Given the description of an element on the screen output the (x, y) to click on. 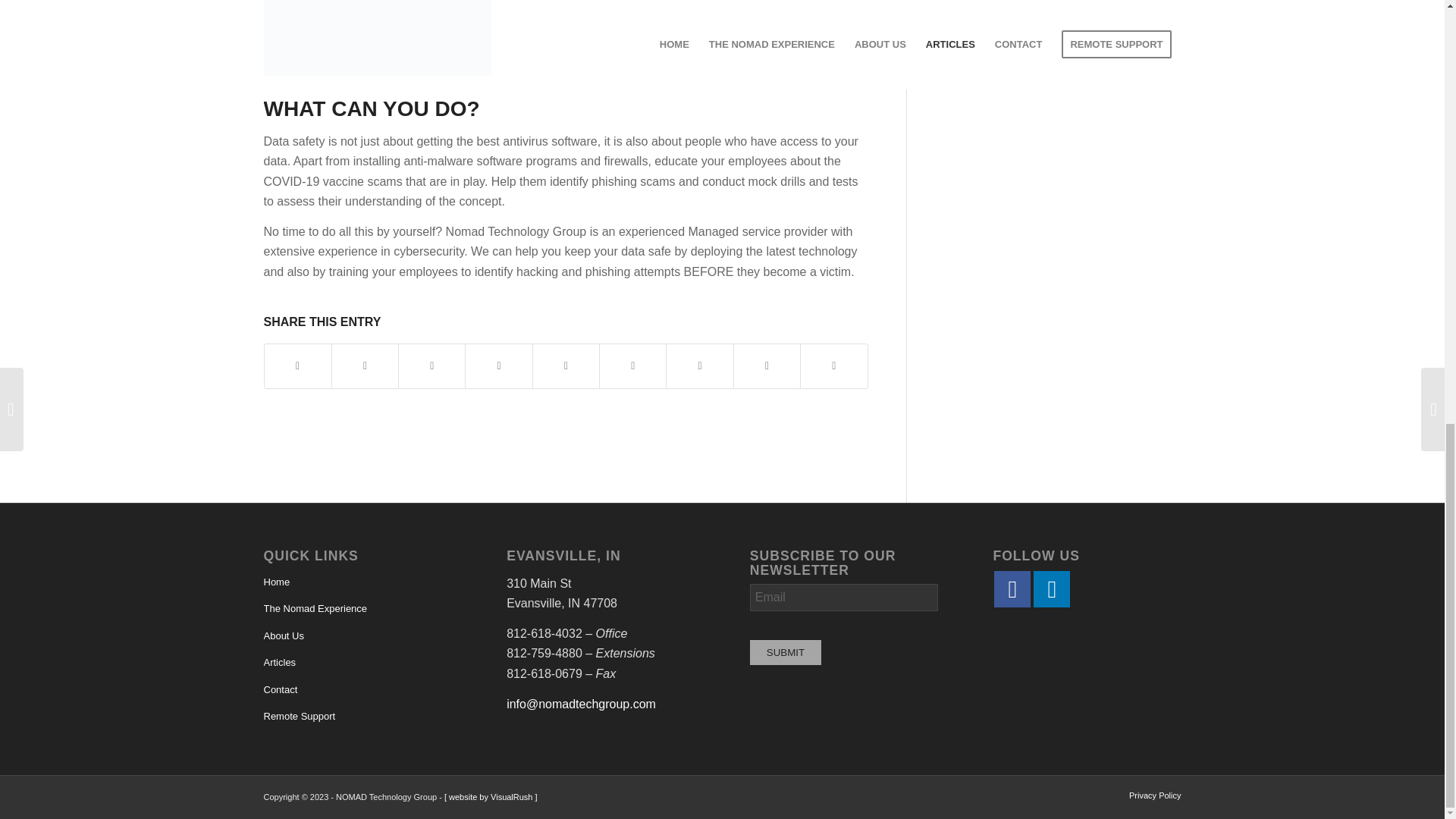
Remote Support (357, 716)
About Us (357, 636)
The Nomad Experience (357, 609)
Submit (785, 652)
Home (357, 582)
Submit (785, 652)
Contact (357, 690)
Articles (357, 663)
